Given the description of an element on the screen output the (x, y) to click on. 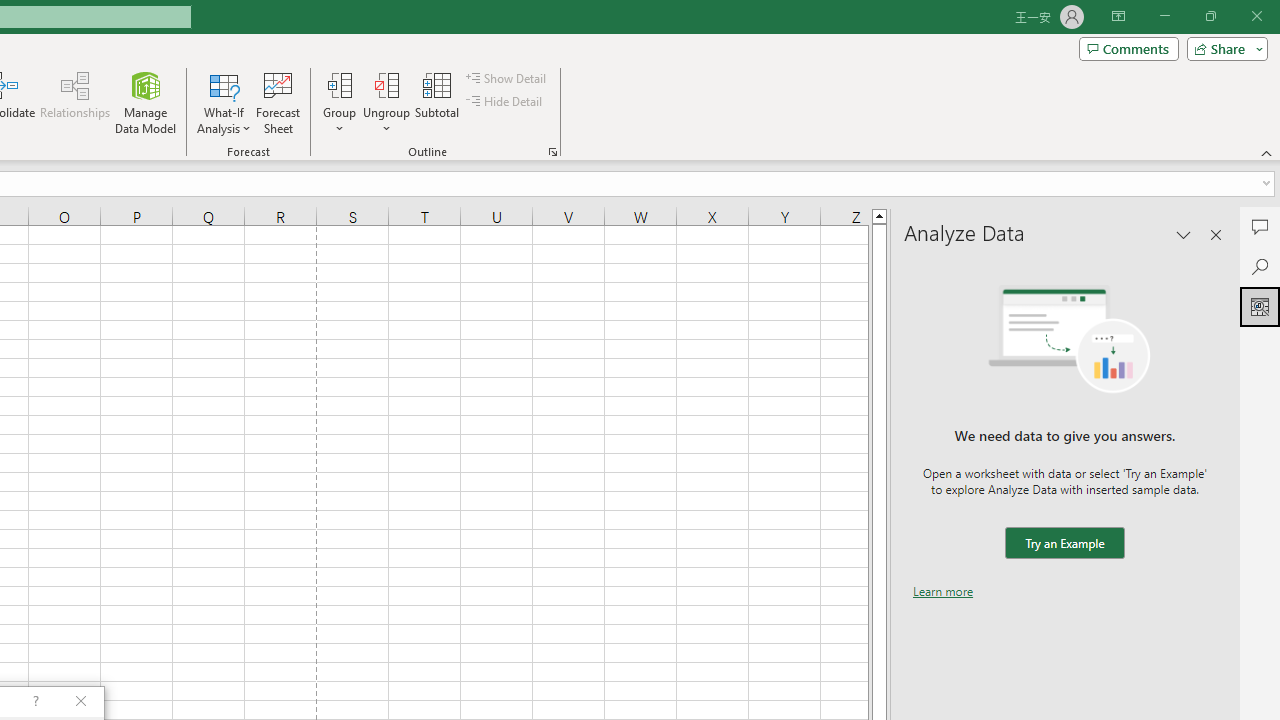
Show Detail (507, 78)
Relationships (75, 102)
Forecast Sheet (278, 102)
Group and Outline Settings (552, 151)
What-If Analysis (223, 102)
